Given the description of an element on the screen output the (x, y) to click on. 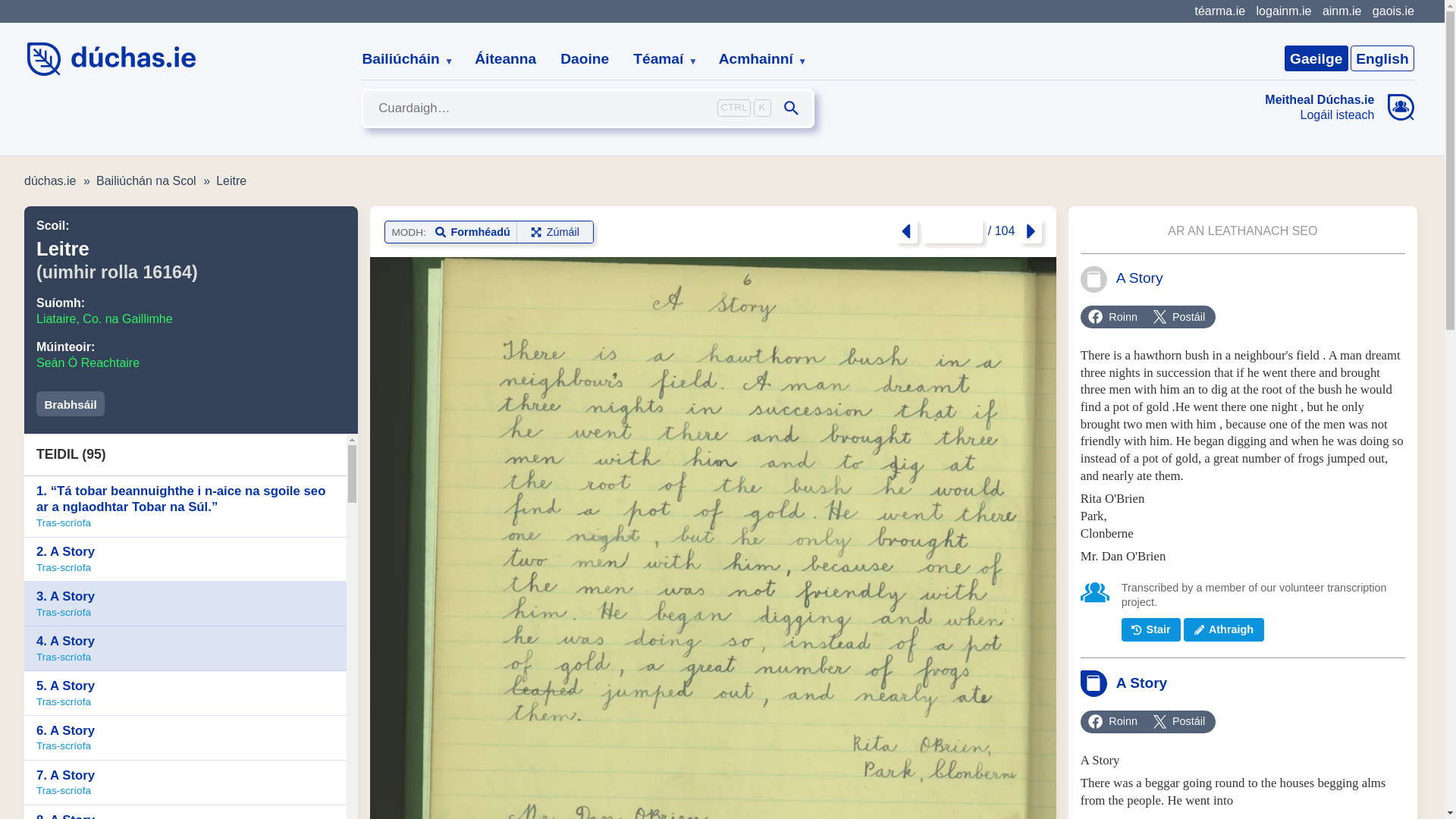
Gaeilge (1316, 58)
gaois.ie (1393, 11)
ainm.ie (1341, 11)
Liataire, Co. na Gaillimhe (104, 318)
Daoine (584, 58)
Leitre (230, 180)
English (1382, 58)
logainm.ie (1283, 11)
